Given the description of an element on the screen output the (x, y) to click on. 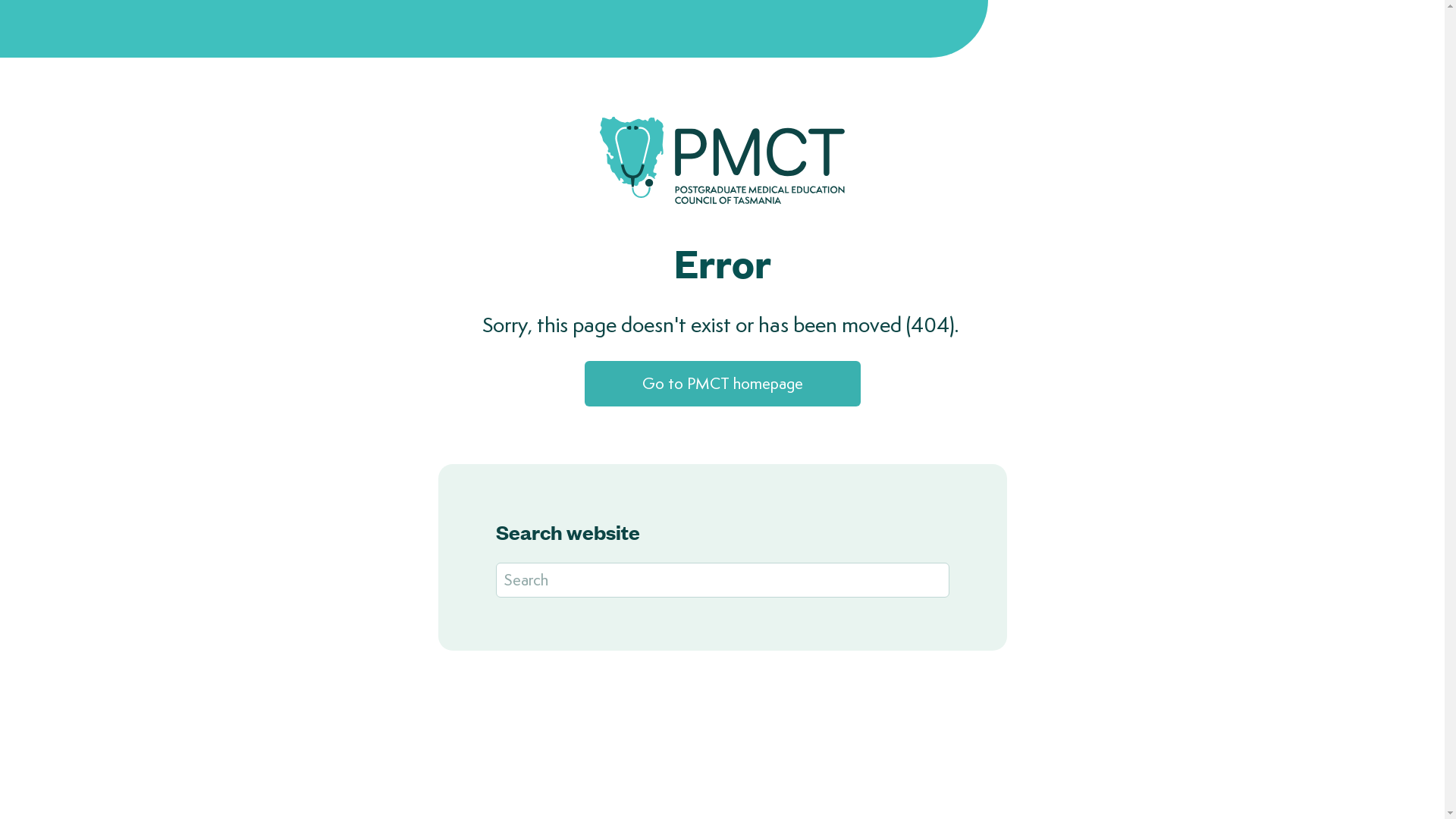
Go to PMCT homepage Element type: text (721, 383)
